Given the description of an element on the screen output the (x, y) to click on. 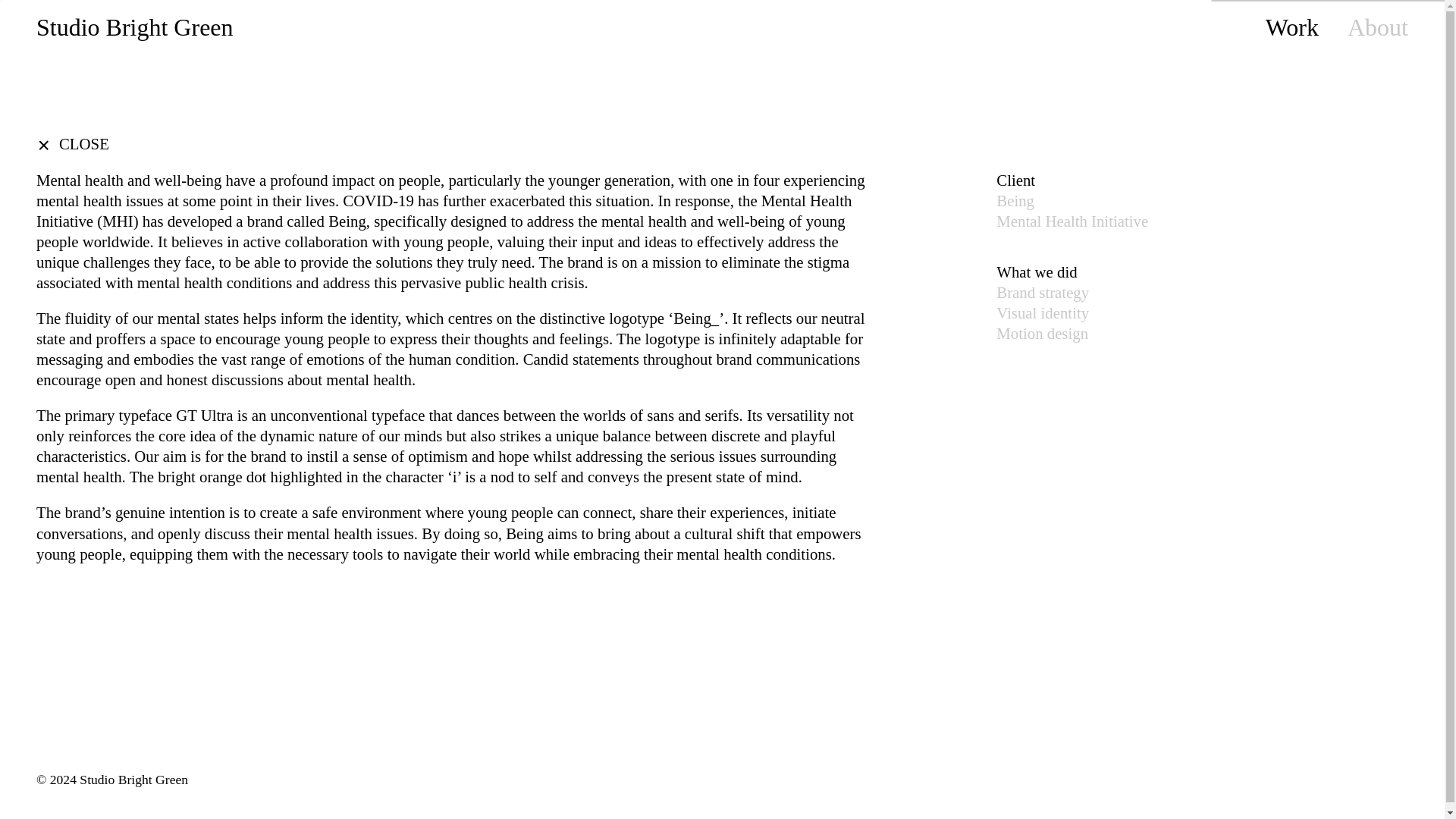
Studio Bright Green (134, 27)
About (1377, 26)
CLOSE (72, 144)
Work (1292, 26)
